Given the description of an element on the screen output the (x, y) to click on. 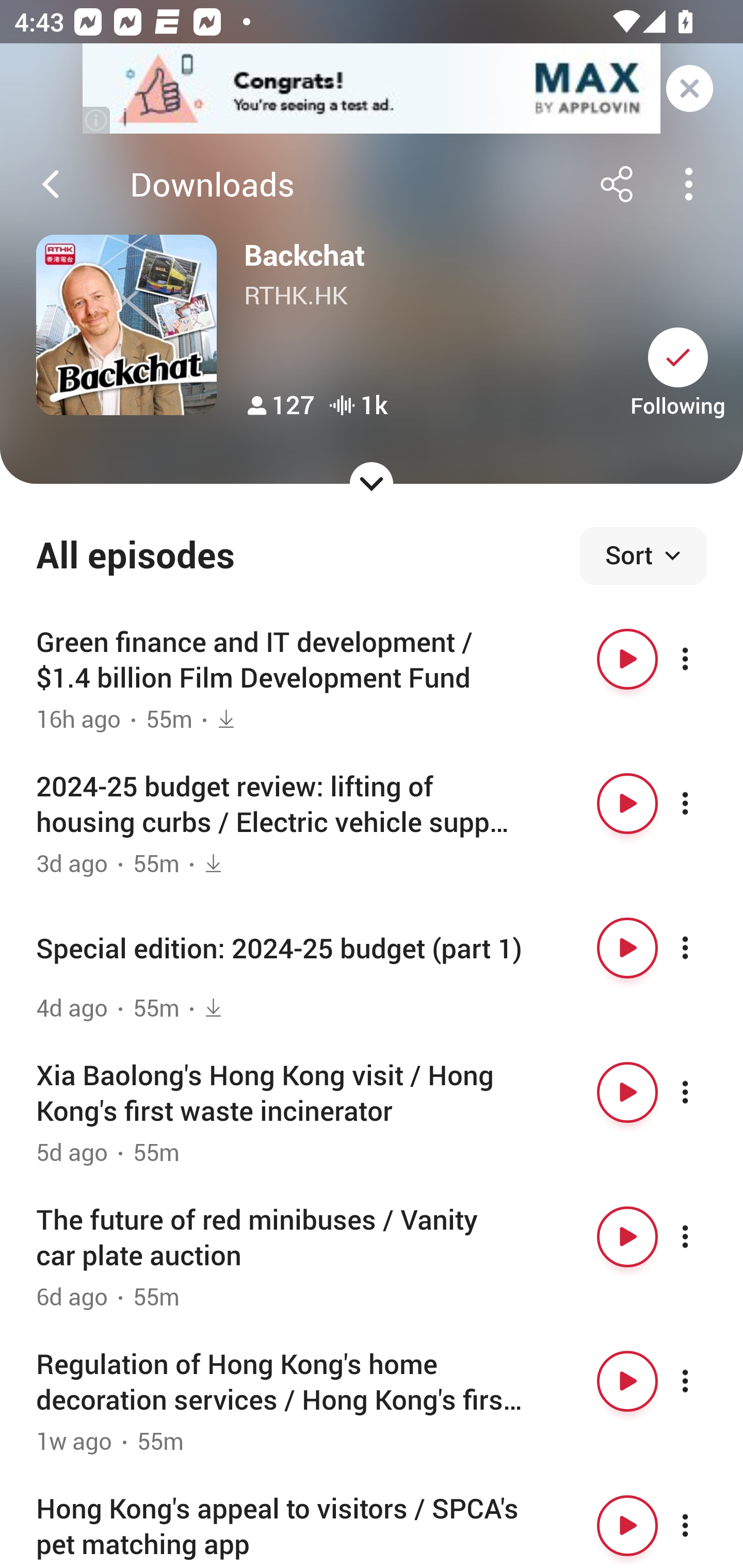
app-monetization (371, 88)
(i) (96, 119)
Back (50, 184)
Unsubscribe button (677, 357)
Sort episodes Sort (643, 555)
Play button (627, 659)
More options (703, 659)
Play button (627, 803)
More options (703, 803)
Play button (627, 947)
More options (703, 947)
Play button (627, 1092)
More options (703, 1092)
Play button (627, 1236)
More options (703, 1236)
Play button (627, 1381)
More options (703, 1381)
Play button (627, 1525)
More options (703, 1525)
